Given the description of an element on the screen output the (x, y) to click on. 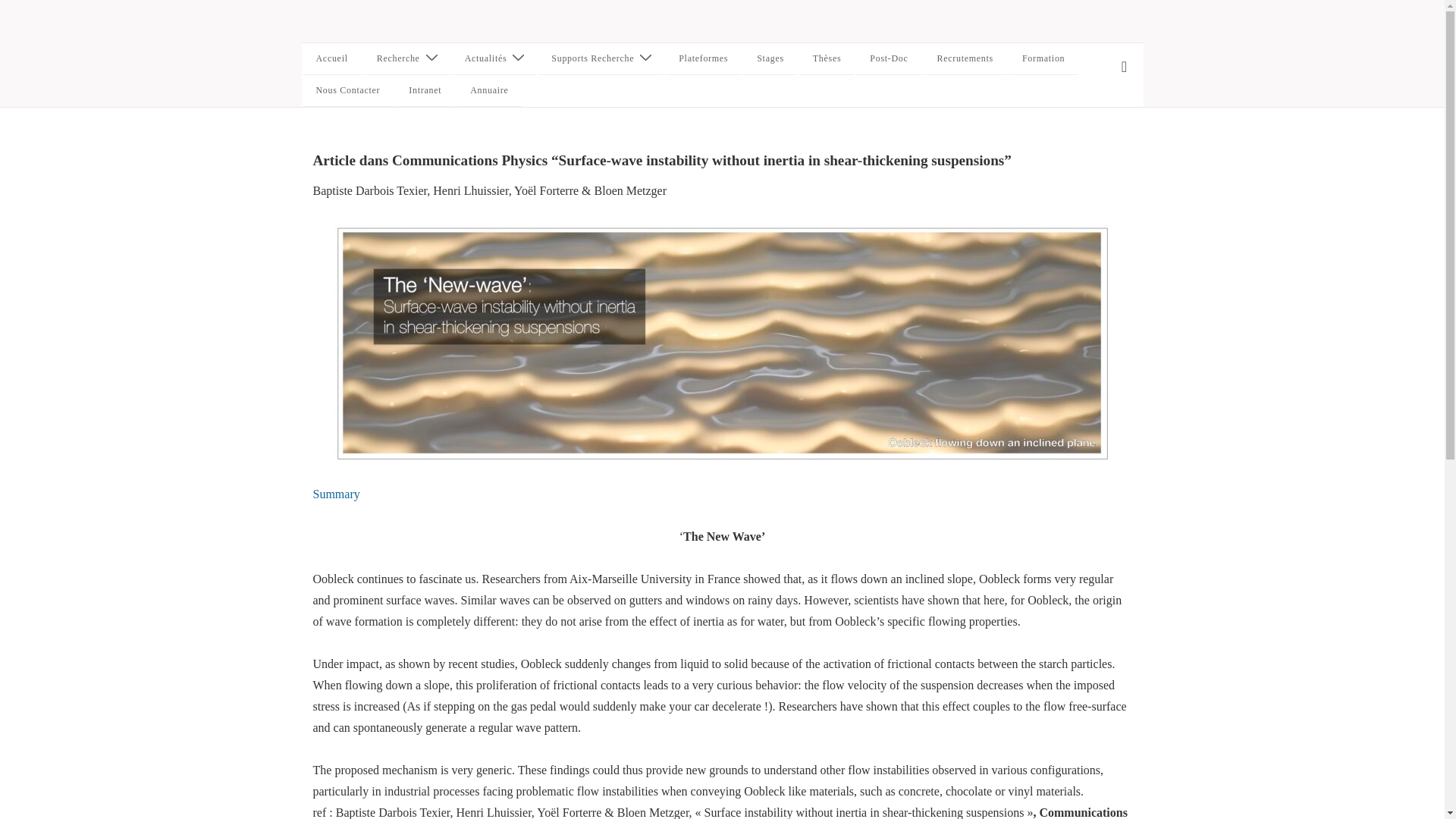
MENU (1123, 66)
Recherche (405, 58)
Recrutements (965, 58)
Formation (1043, 58)
Plateformes (703, 58)
Intranet (424, 90)
Nous Contacter (347, 90)
Annuaire (489, 90)
Accueil (331, 58)
Supports Recherche (600, 58)
